Given the description of an element on the screen output the (x, y) to click on. 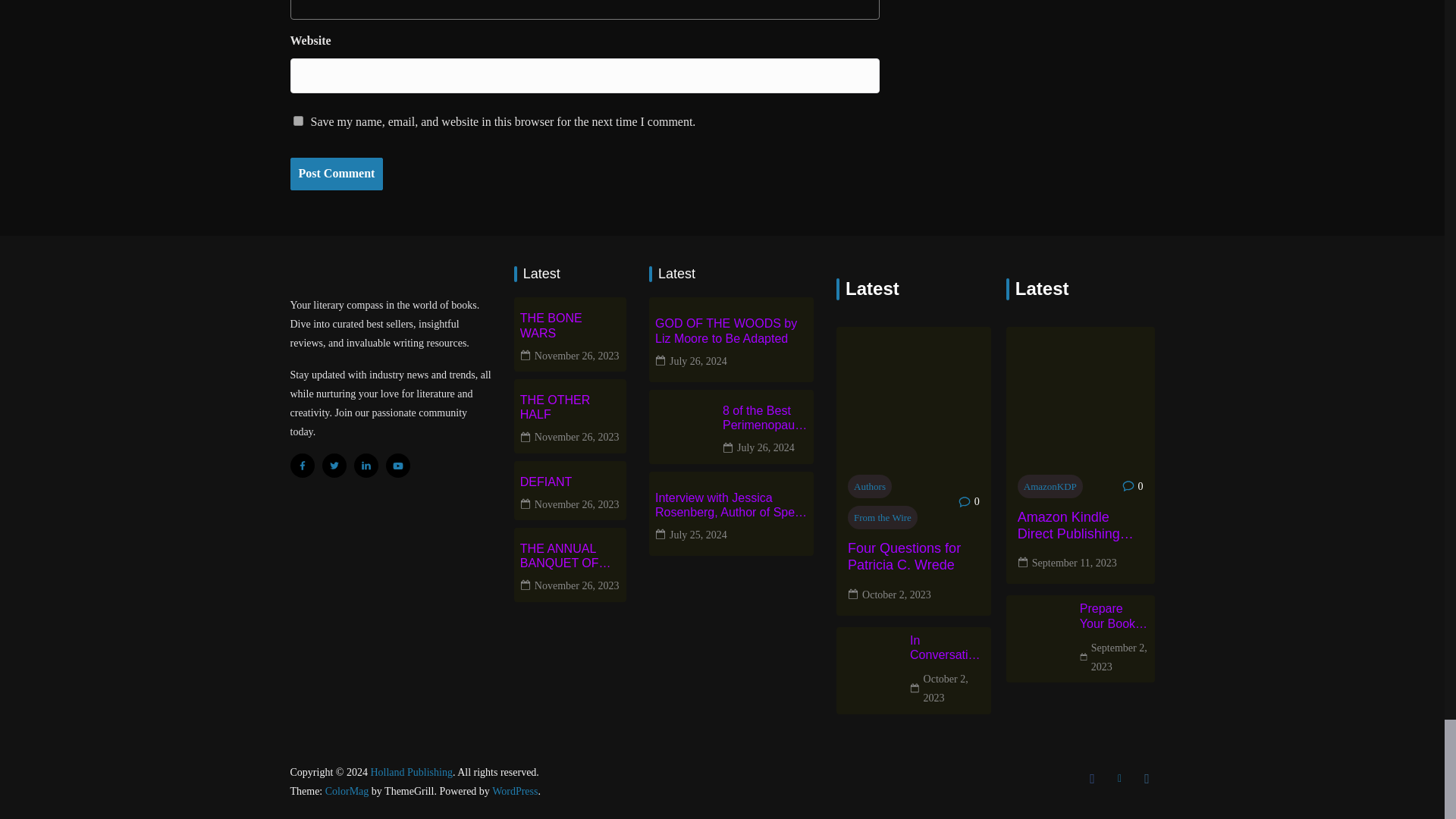
yes (297, 121)
Post Comment (335, 174)
